Given the description of an element on the screen output the (x, y) to click on. 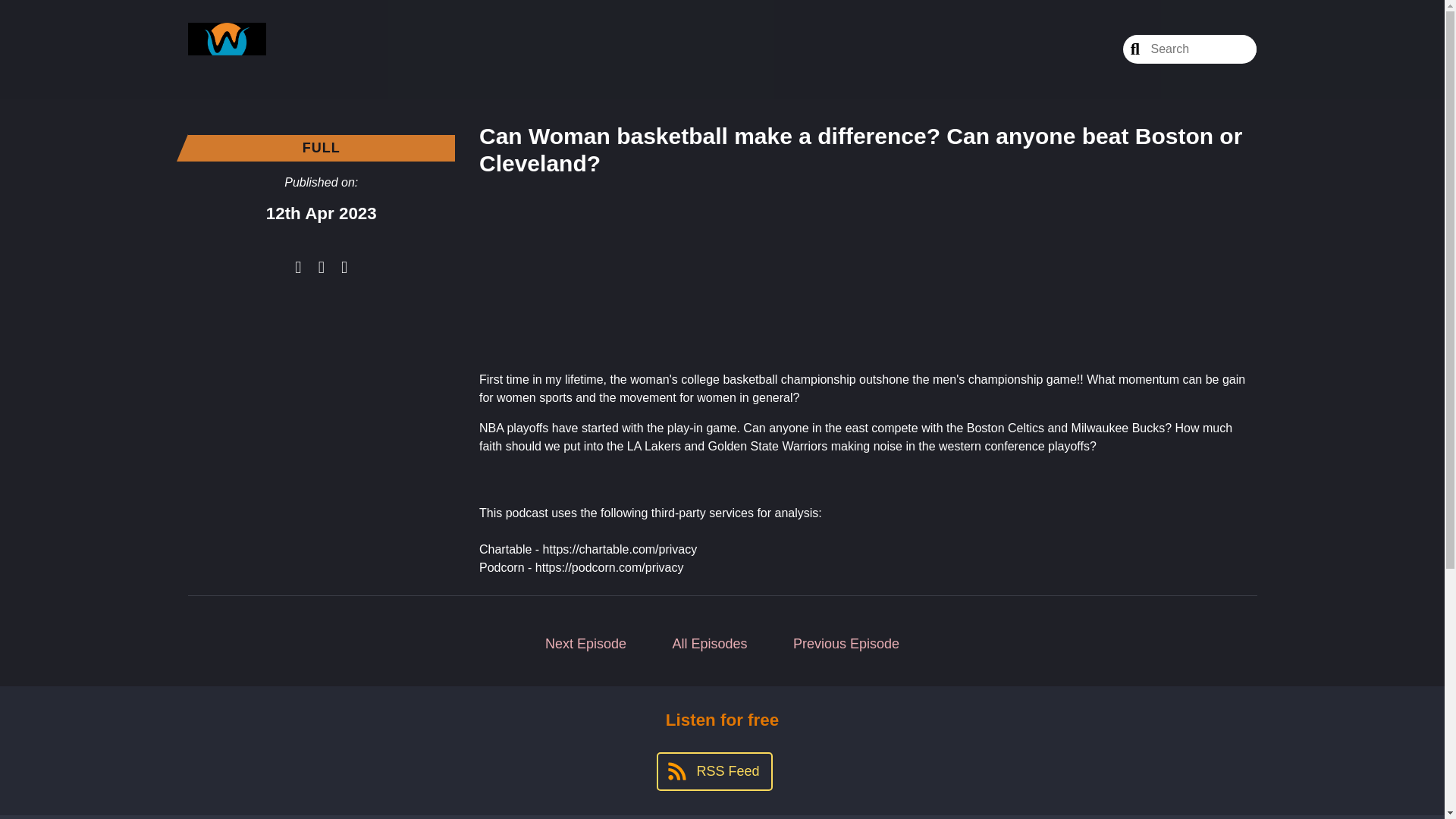
All Episodes (709, 643)
Previous Episode (845, 643)
RSS Feed (713, 771)
Next Episode (585, 643)
